Given the description of an element on the screen output the (x, y) to click on. 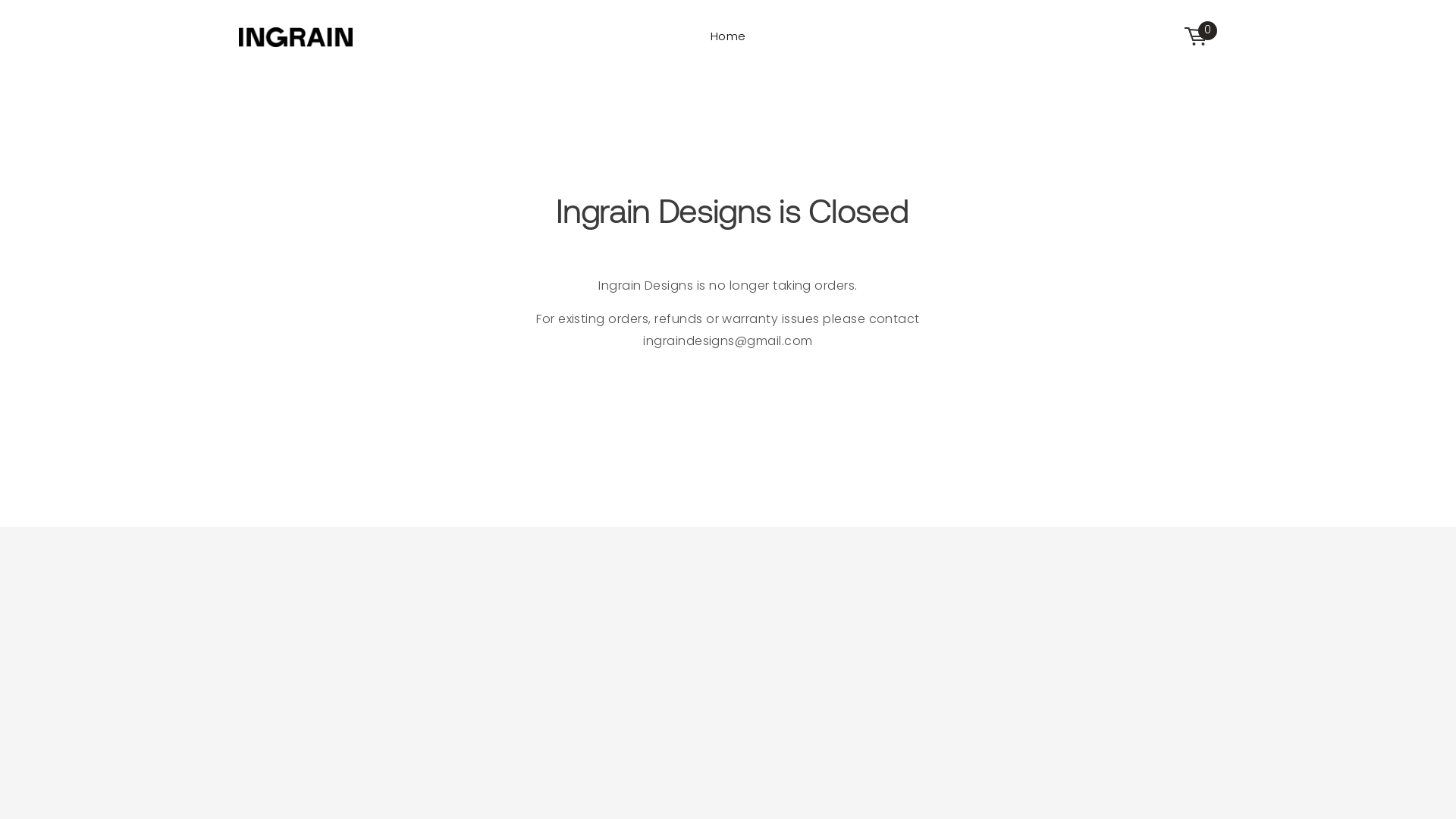
0 Element type: text (1200, 36)
Home Element type: text (727, 37)
